Given the description of an element on the screen output the (x, y) to click on. 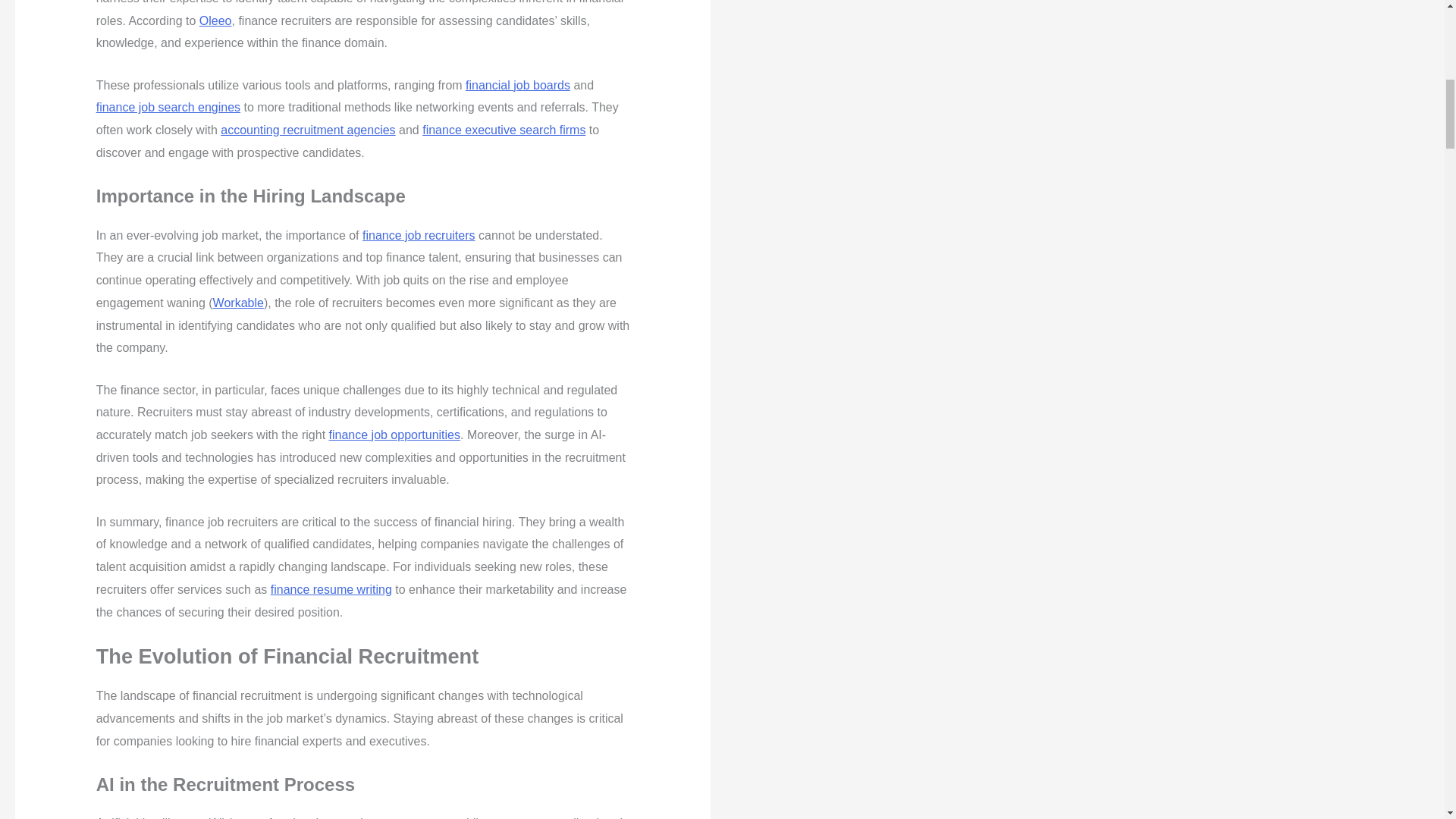
Oleeo (215, 20)
Workable (237, 302)
finance executive search firms (503, 129)
accounting recruitment agencies (307, 129)
financial job boards (517, 84)
finance job search engines (168, 106)
finance job recruiters (419, 235)
